Given the description of an element on the screen output the (x, y) to click on. 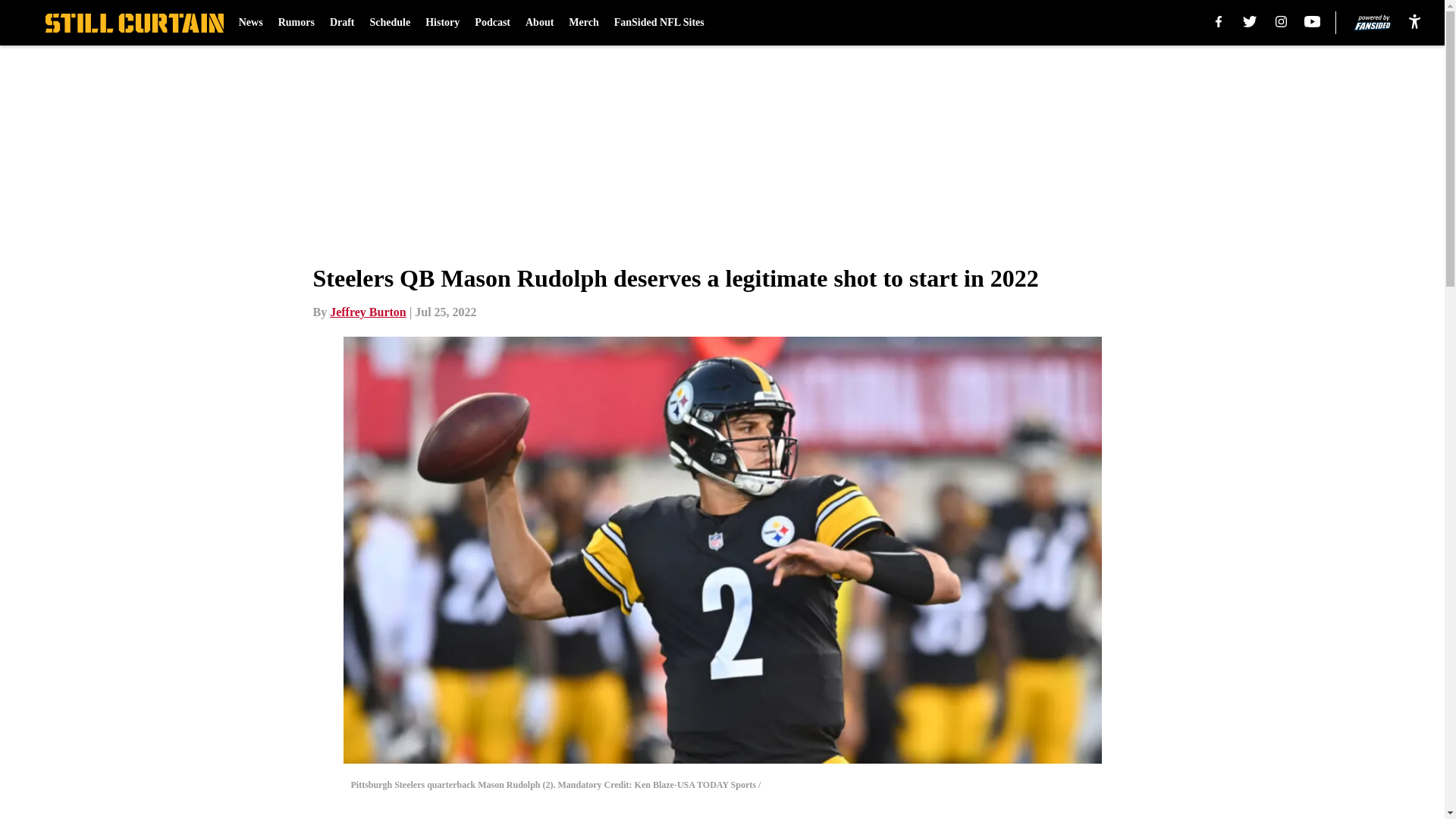
Podcast (492, 22)
About (539, 22)
History (442, 22)
Draft (342, 22)
Rumors (296, 22)
Jeffrey Burton (368, 311)
Merch (583, 22)
Schedule (389, 22)
FanSided NFL Sites (659, 22)
News (250, 22)
